Given the description of an element on the screen output the (x, y) to click on. 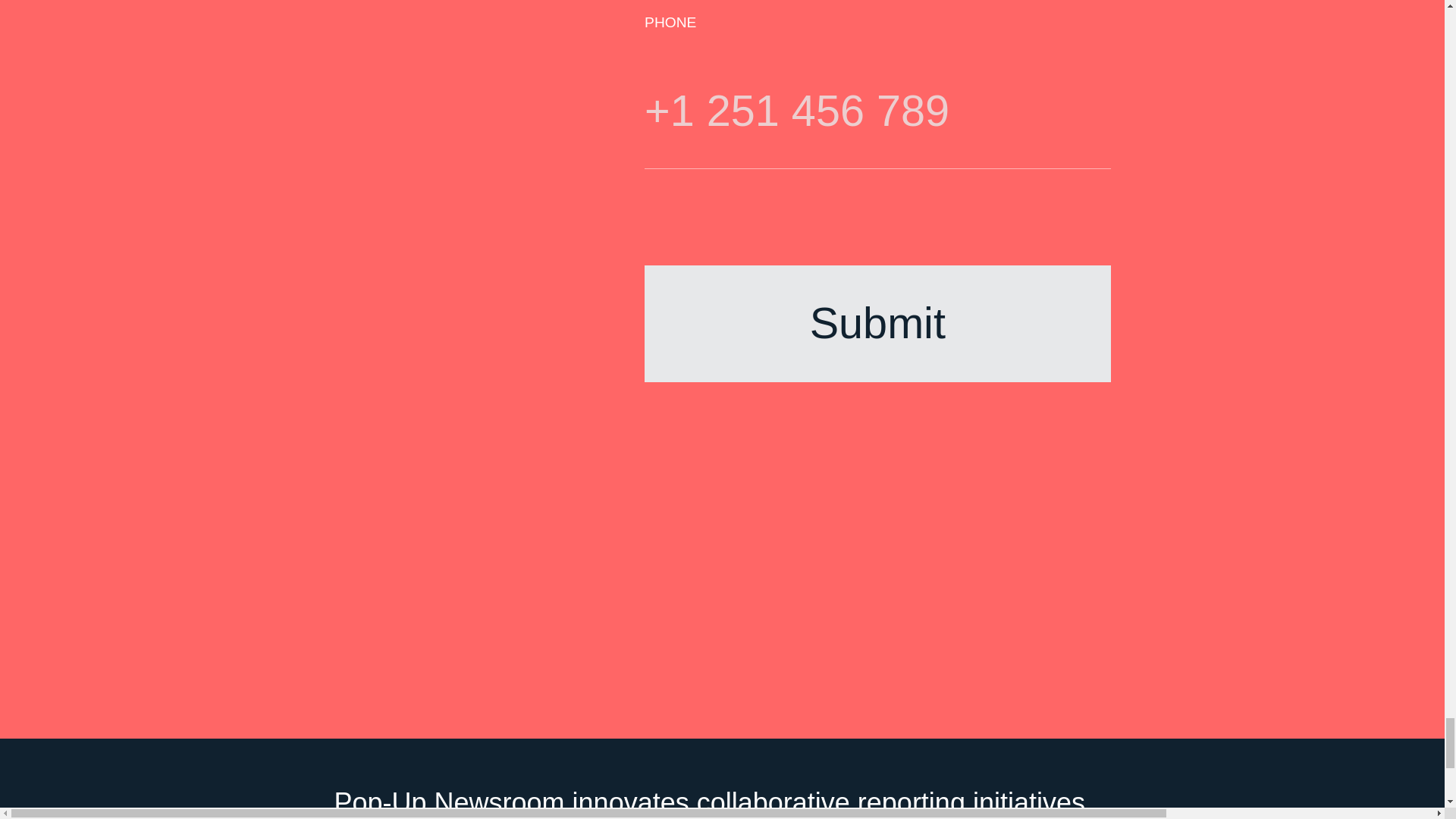
Submit (877, 323)
